Given the description of an element on the screen output the (x, y) to click on. 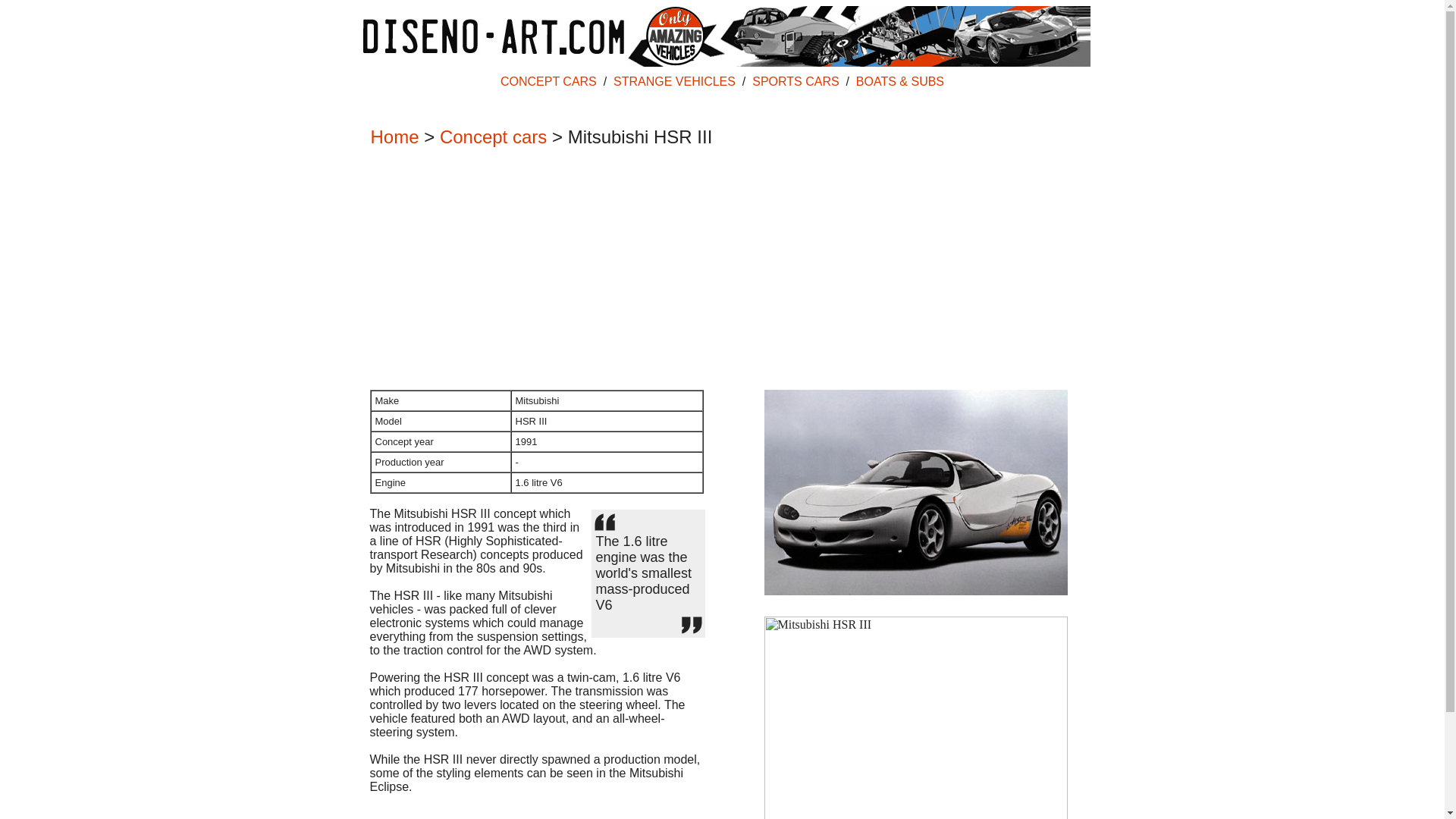
Home (394, 136)
Concept cars (493, 136)
STRANGE VEHICLES (673, 81)
CONCEPT CARS (548, 81)
SPORTS CARS (795, 81)
